Given the description of an element on the screen output the (x, y) to click on. 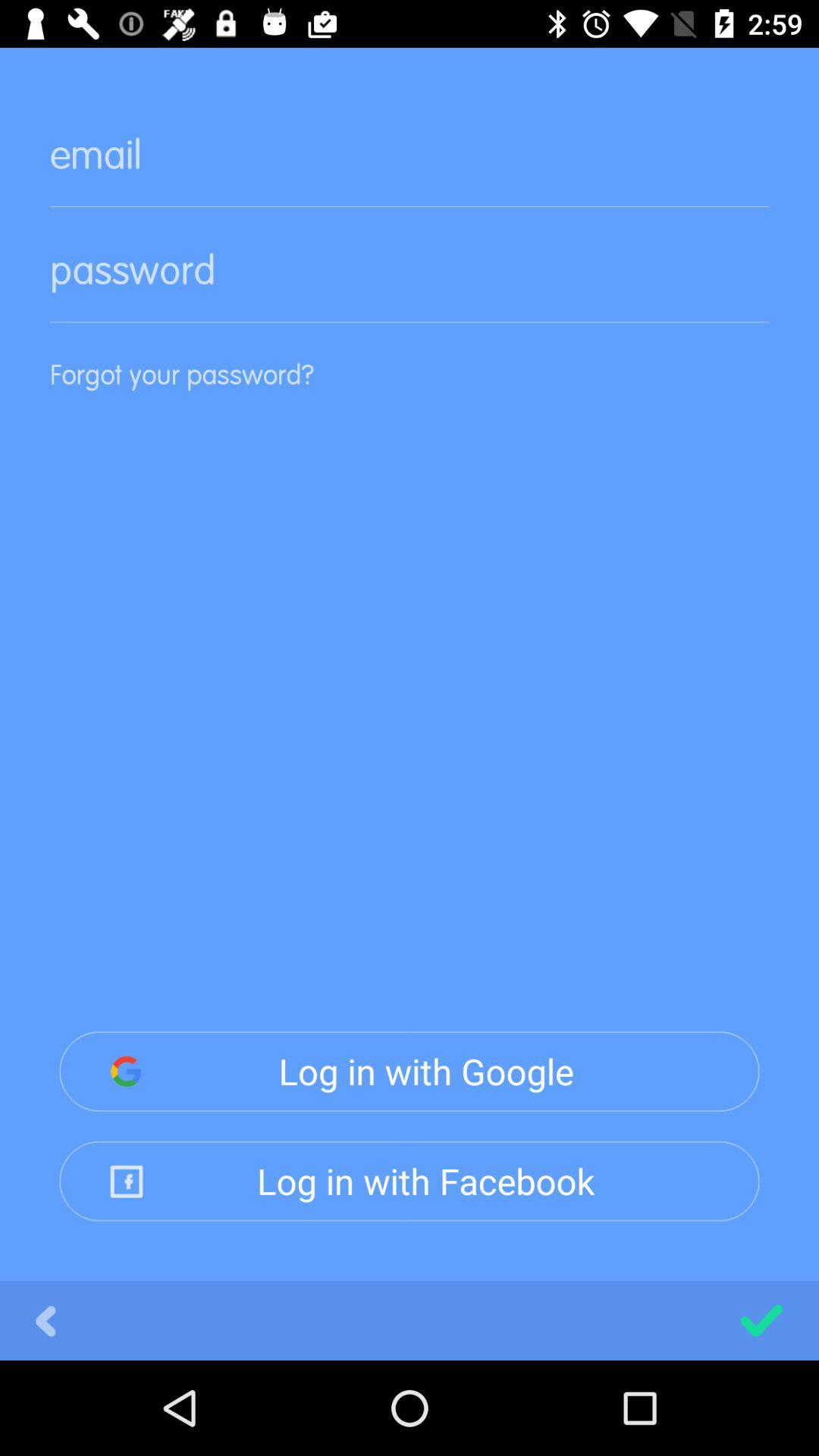
enter email box (409, 167)
